Given the description of an element on the screen output the (x, y) to click on. 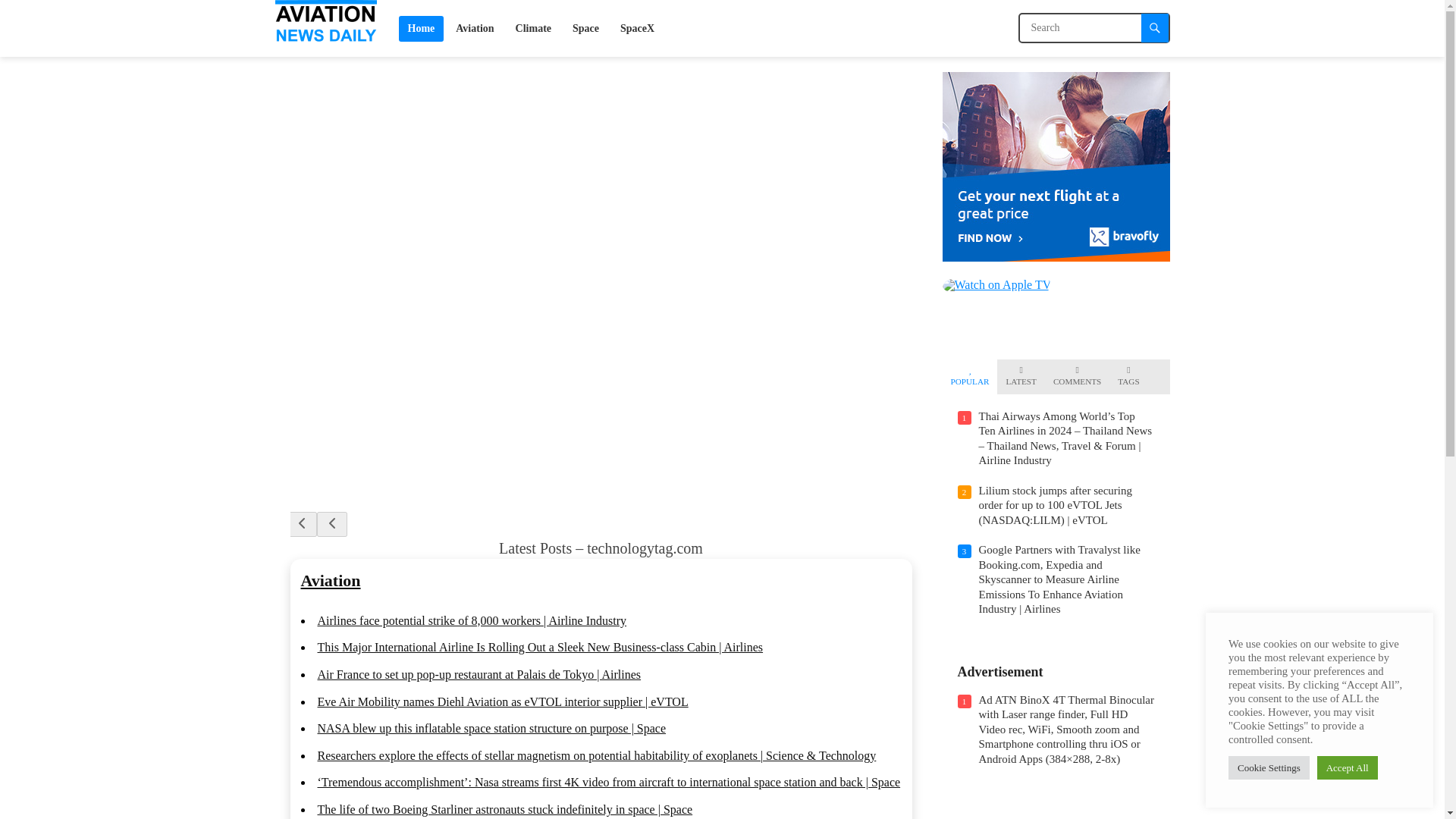
Tags (1128, 376)
Climate (533, 28)
SpaceX (637, 28)
Aviation (474, 28)
Find Cheap Flights (1055, 256)
Aviation (329, 579)
Latest (1020, 376)
Home (421, 28)
Space (585, 28)
Comments (1076, 376)
YouTube video player (1055, 807)
Popular (970, 376)
